Given the description of an element on the screen output the (x, y) to click on. 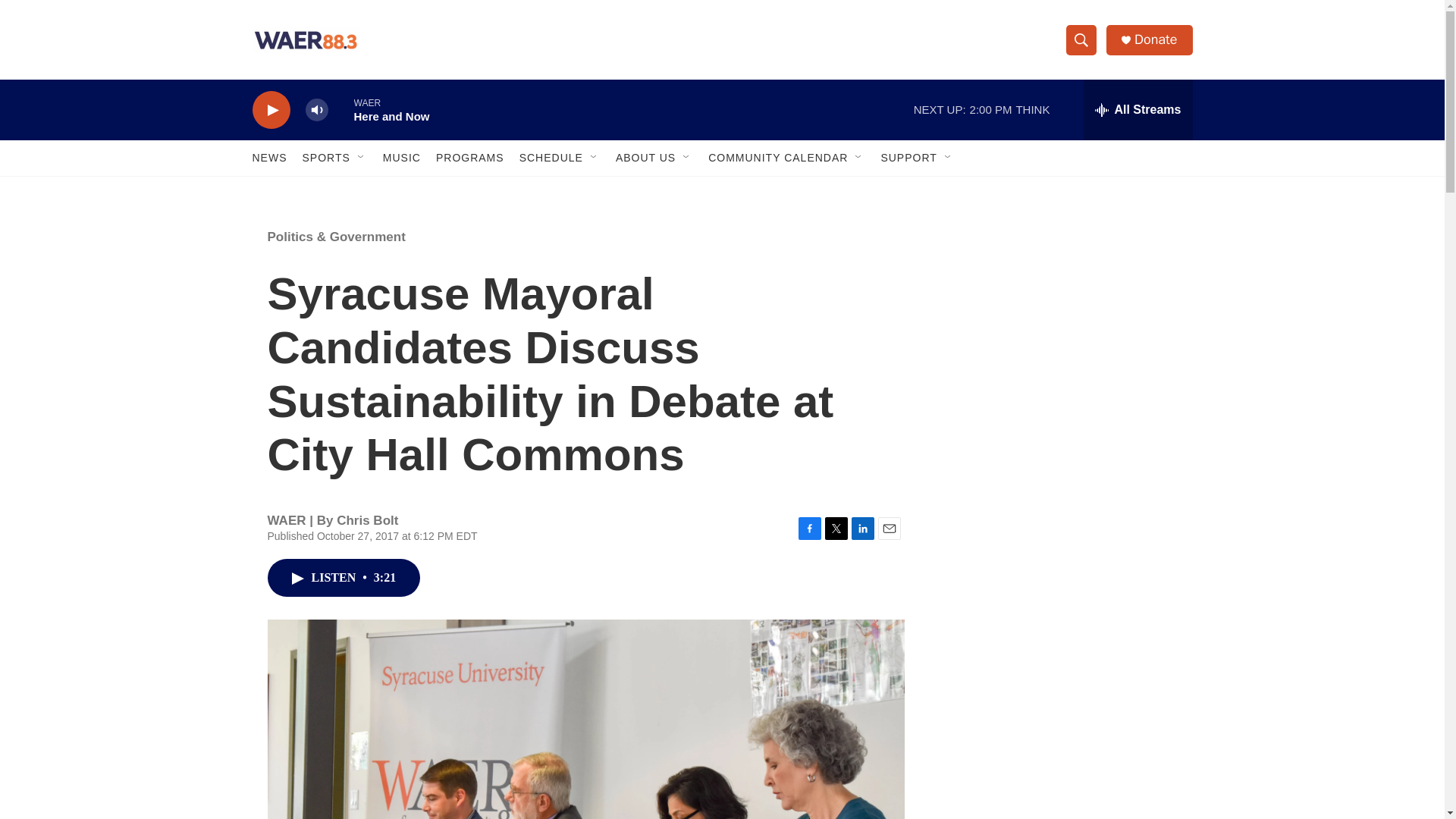
3rd party ad content (1062, 740)
3rd party ad content (1062, 316)
3rd party ad content (1062, 536)
